Given the description of an element on the screen output the (x, y) to click on. 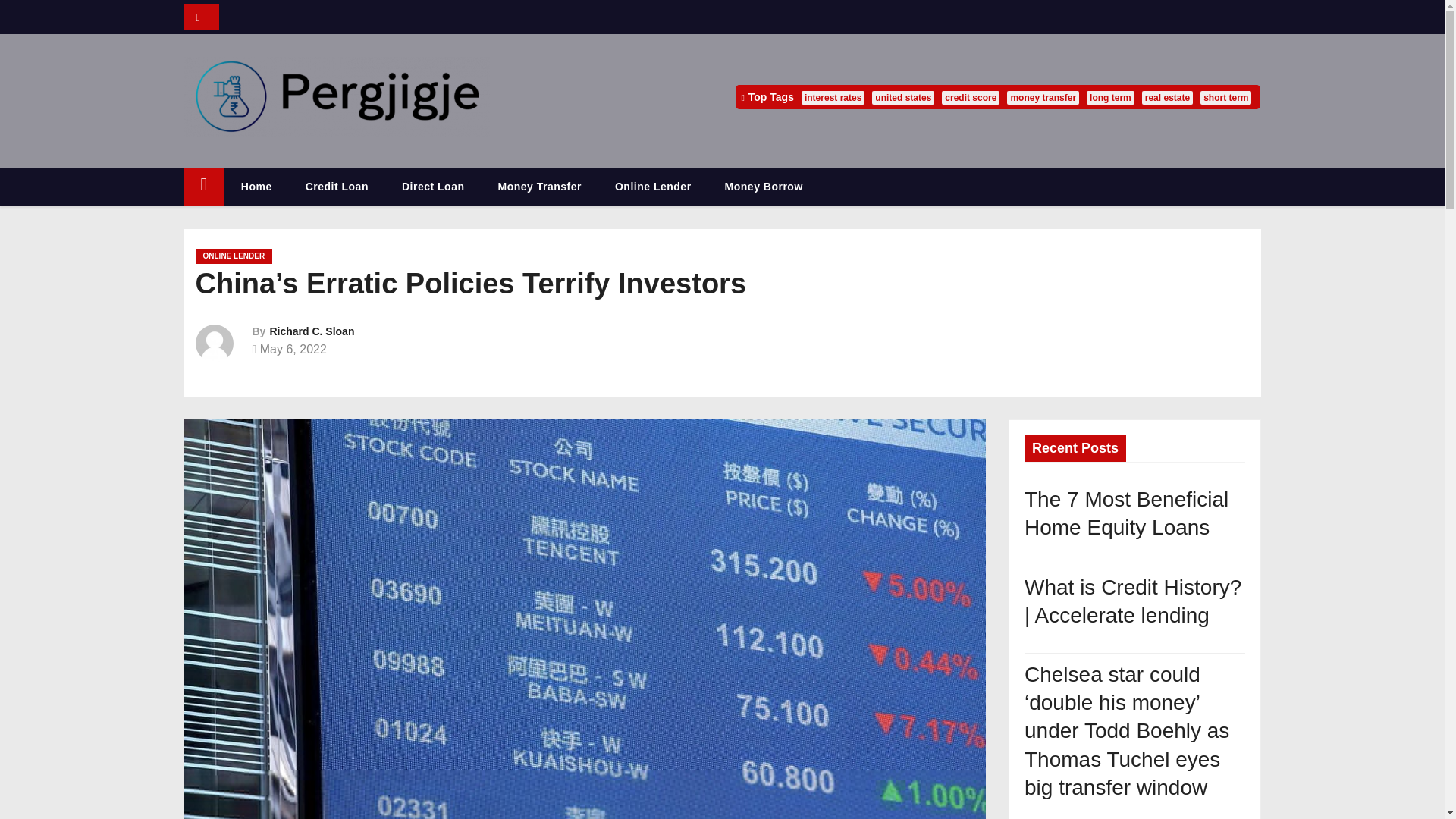
Credit loan (336, 186)
credit score (970, 97)
Money transfer (538, 186)
Money Borrow (763, 186)
Richard C. Sloan (311, 331)
Money borrow (763, 186)
Money Transfer (538, 186)
Online Lender (652, 186)
united states (903, 97)
Home (203, 186)
